Given the description of an element on the screen output the (x, y) to click on. 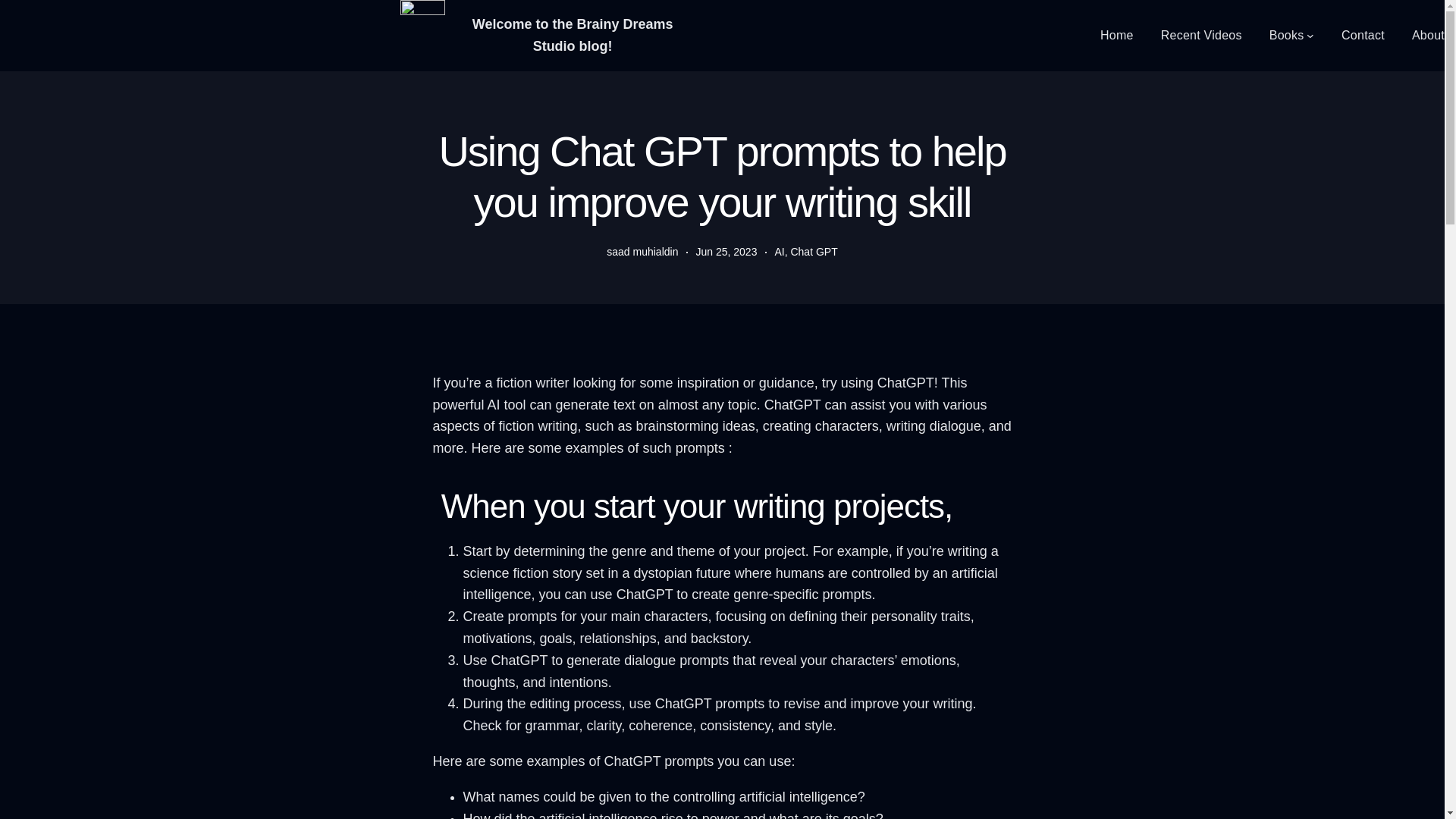
Chat GPT (813, 251)
Contact (1362, 35)
Recent Videos (1200, 35)
Home (1117, 35)
Books (1286, 35)
